Given the description of an element on the screen output the (x, y) to click on. 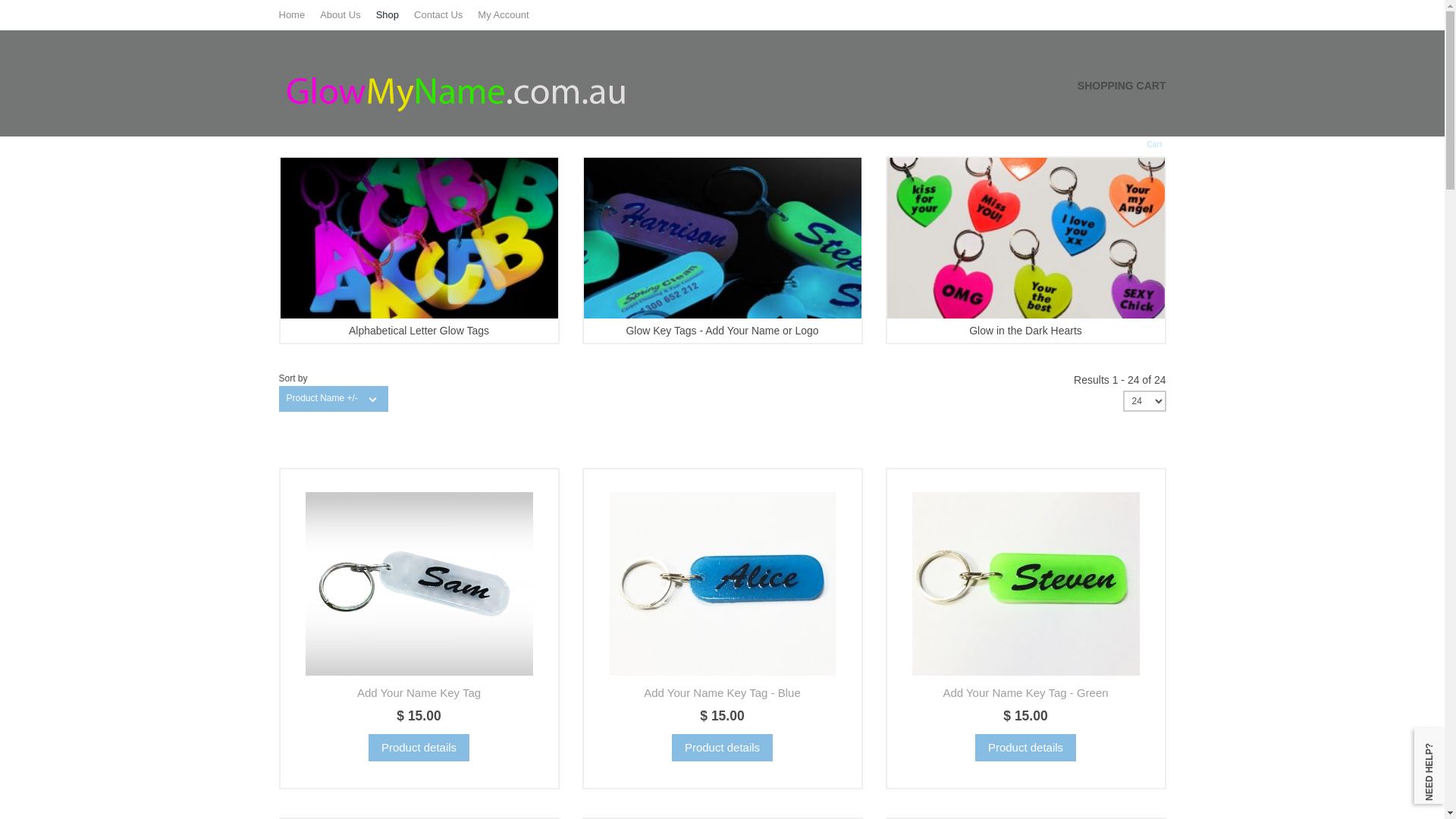
Shop Element type: text (395, 15)
Product details Element type: text (418, 747)
Home Element type: text (299, 15)
Glow Key Tags - Add Your Name or Logo Element type: text (722, 249)
Add Your Name Key Tag - Blue Element type: text (721, 692)
Product details Element type: text (1025, 747)
Product Name +/- Element type: text (321, 398)
Add Your Name Key Tag - Green Element type: hover (1025, 583)
About Us Element type: text (347, 15)
My Account Element type: text (510, 15)
Contact Us Element type: text (445, 15)
Glow in the Dark Hearts Element type: text (1025, 249)
Product details Element type: text (721, 747)
  Cart empty Element type: text (1146, 137)
Add Your Name Key Tag - Blue Element type: hover (721, 583)
Add Your Name Key Tag - Green Element type: text (1024, 692)
Add Your Name Key Tag Element type: hover (418, 583)
Alphabetical Letter Glow Tags Element type: text (419, 249)
Add Your Name Key Tag Element type: text (418, 692)
